Given the description of an element on the screen output the (x, y) to click on. 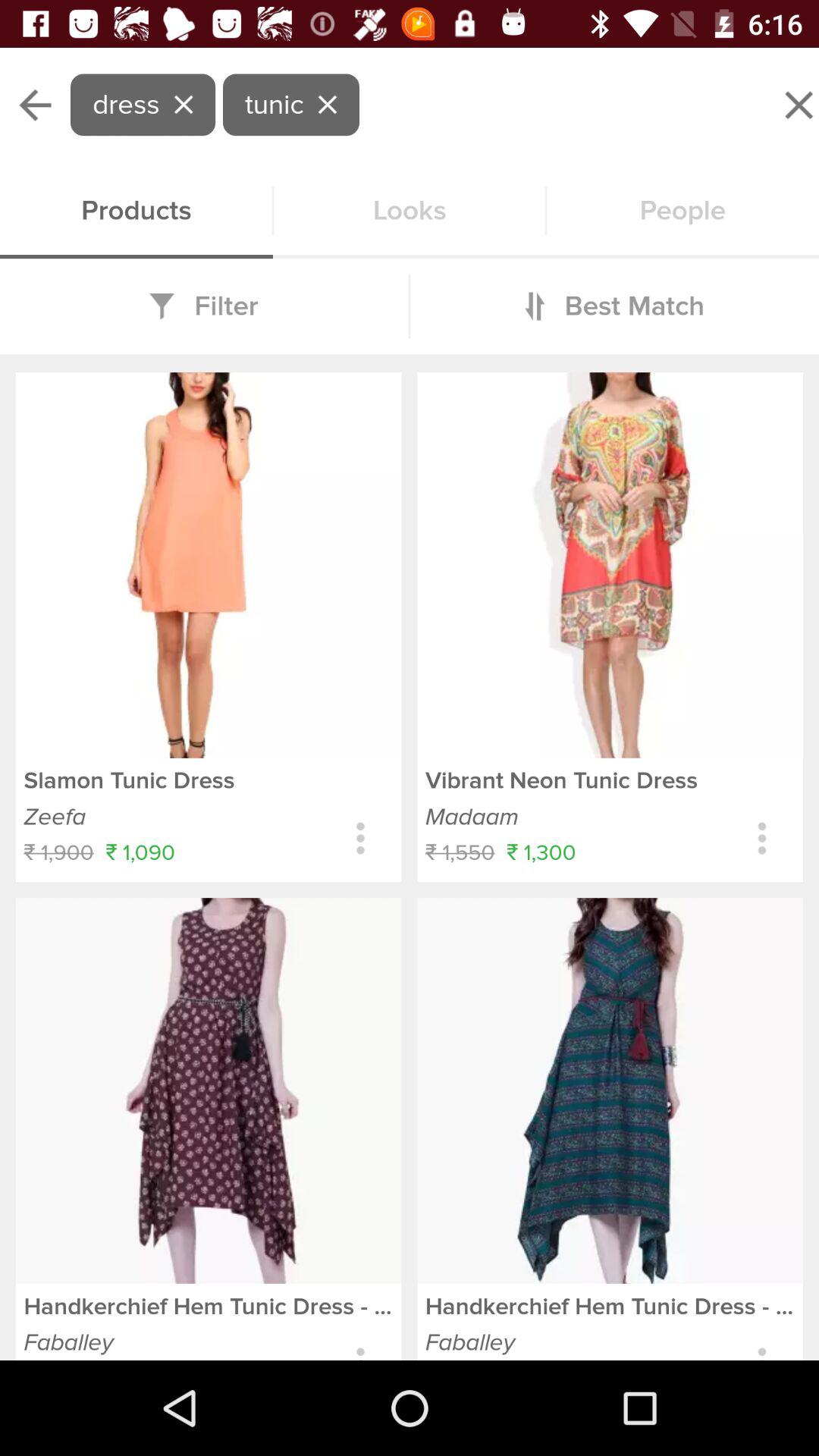
more options (360, 838)
